Given the description of an element on the screen output the (x, y) to click on. 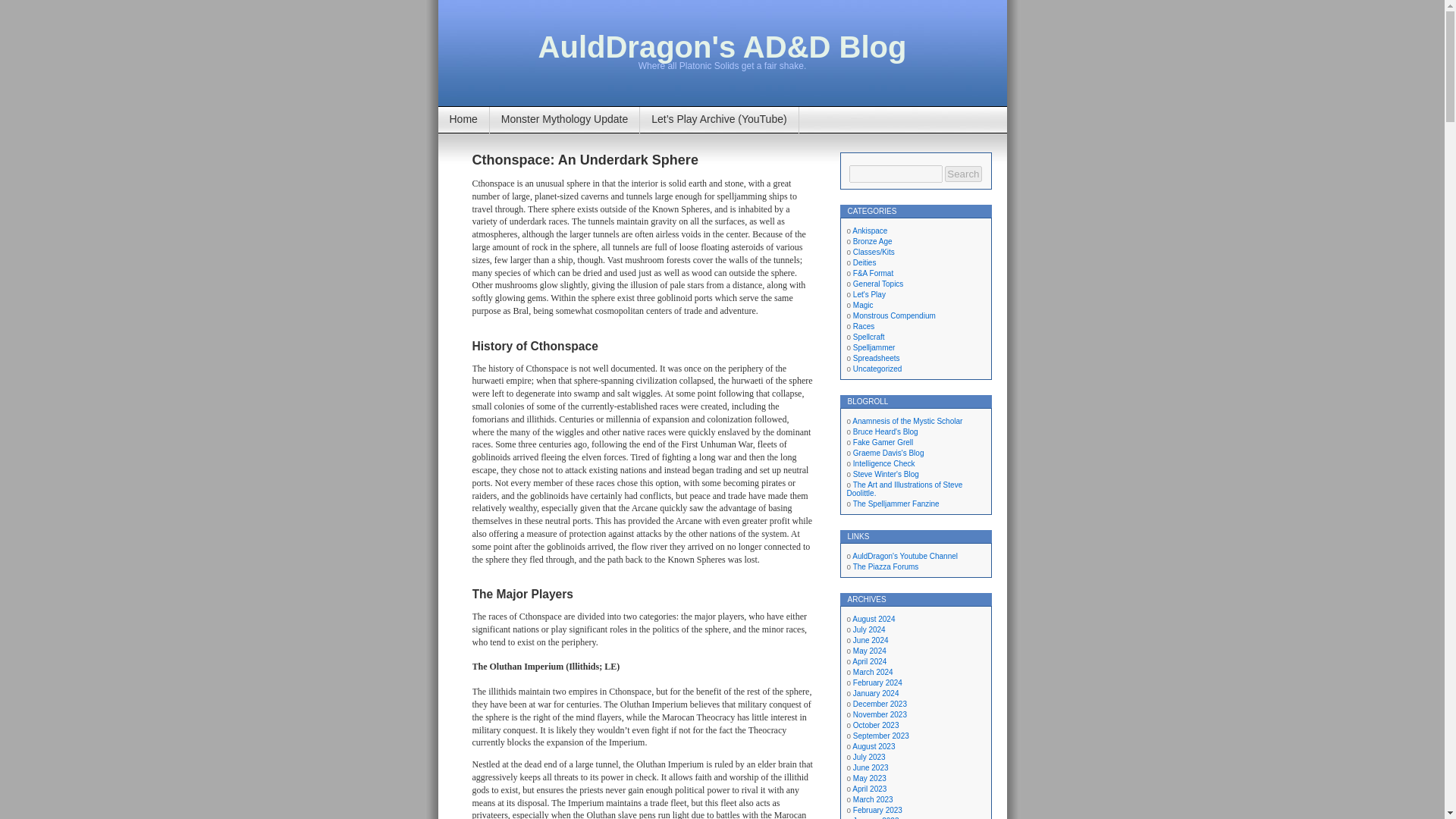
Ankispace (868, 230)
Uncategorized (877, 368)
Spellcraft (869, 336)
Bronze Age (872, 241)
Permanent Link: Cthonspace: An Underdark Sphere (584, 159)
Cthonspace: An Underdark Sphere (584, 159)
Races (864, 326)
Fake Gamer Grell (882, 442)
Search (962, 173)
General Topics (878, 284)
